Given the description of an element on the screen output the (x, y) to click on. 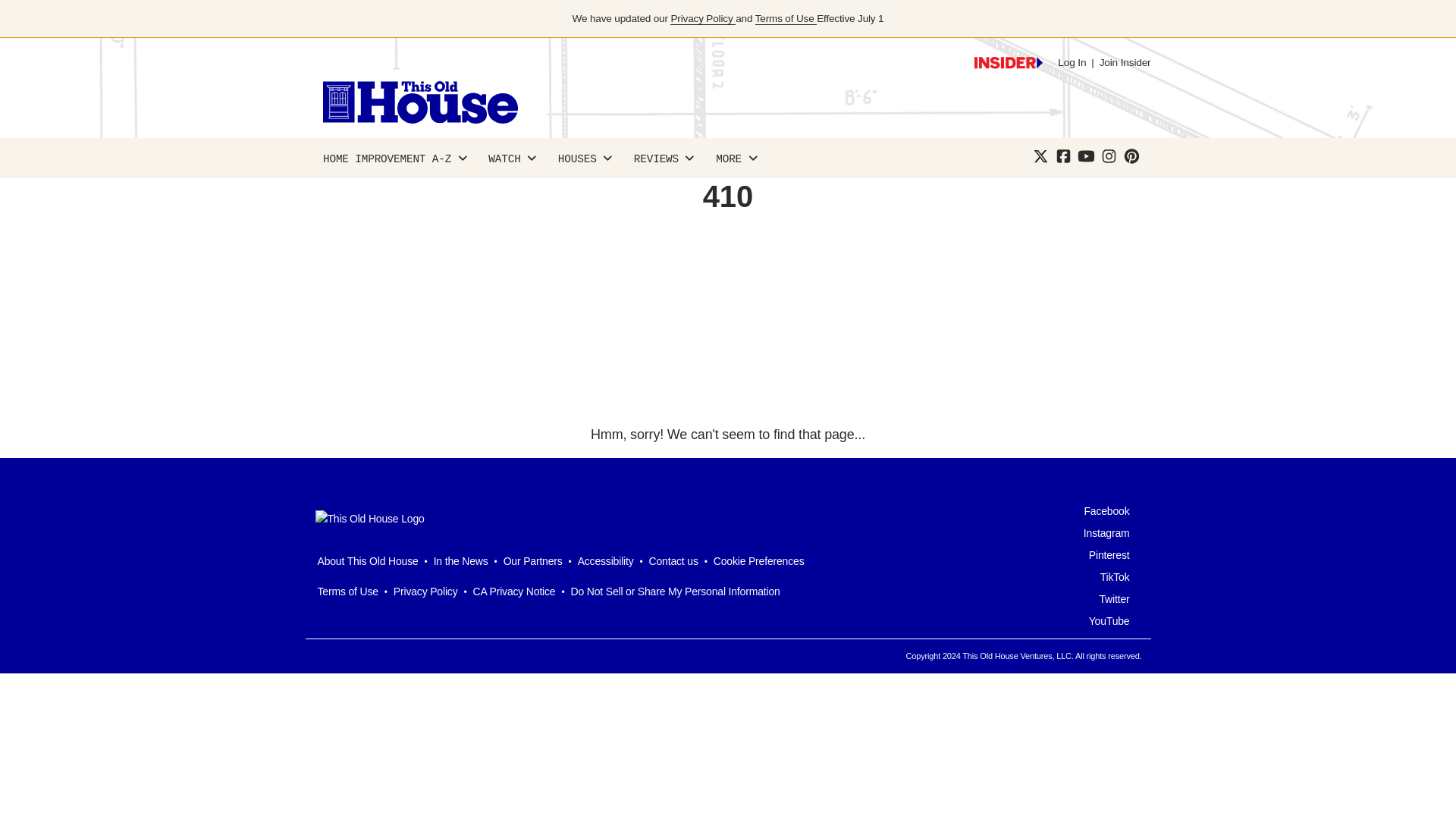
Privacy Policy (702, 19)
Join Insider (1125, 62)
Terms of Use (785, 19)
Log In (1072, 62)
Log in or sign up (1008, 61)
